Given the description of an element on the screen output the (x, y) to click on. 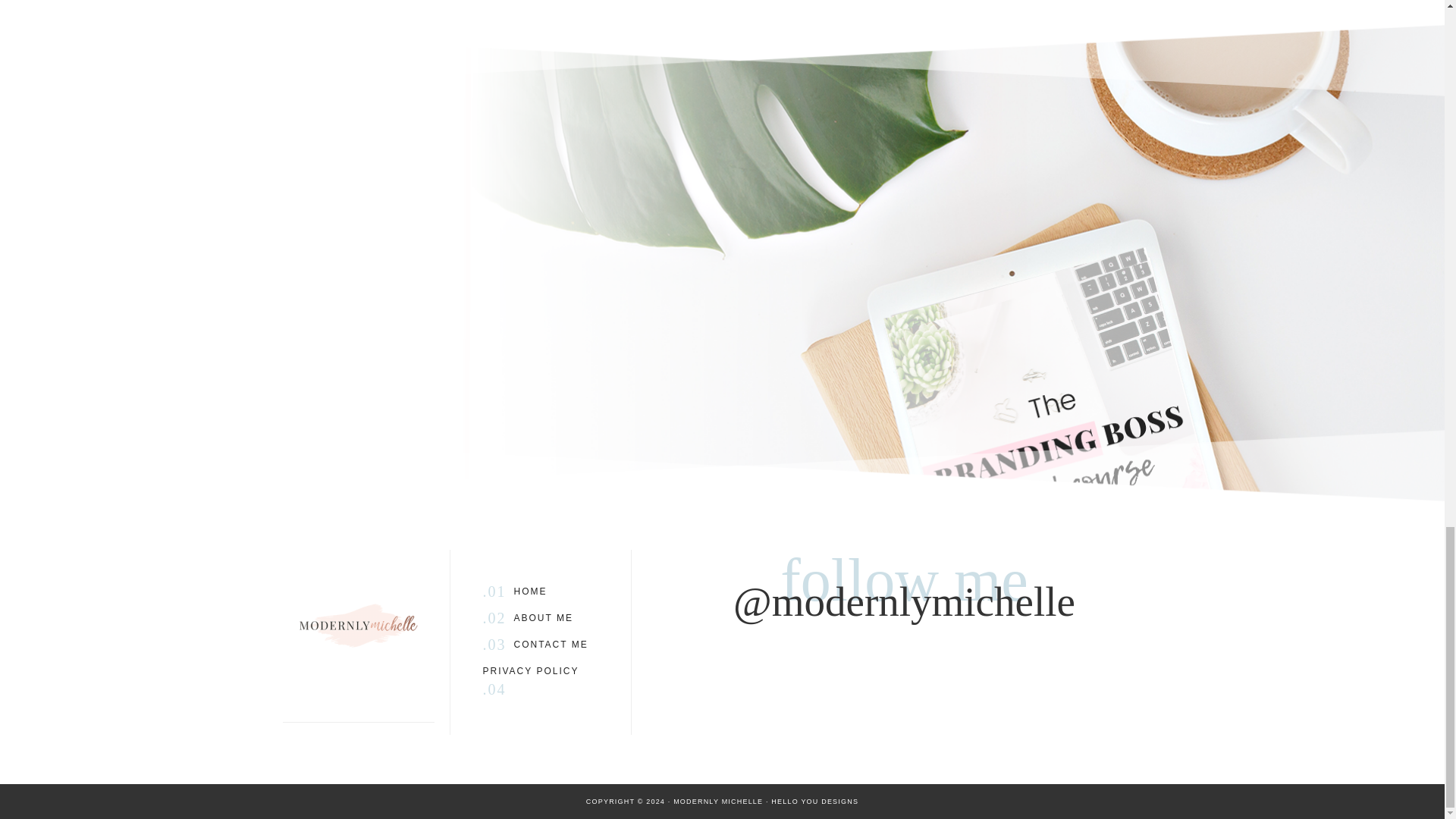
Sign Up! (721, 320)
HELLO YOU DESIGNS (550, 644)
